Given the description of an element on the screen output the (x, y) to click on. 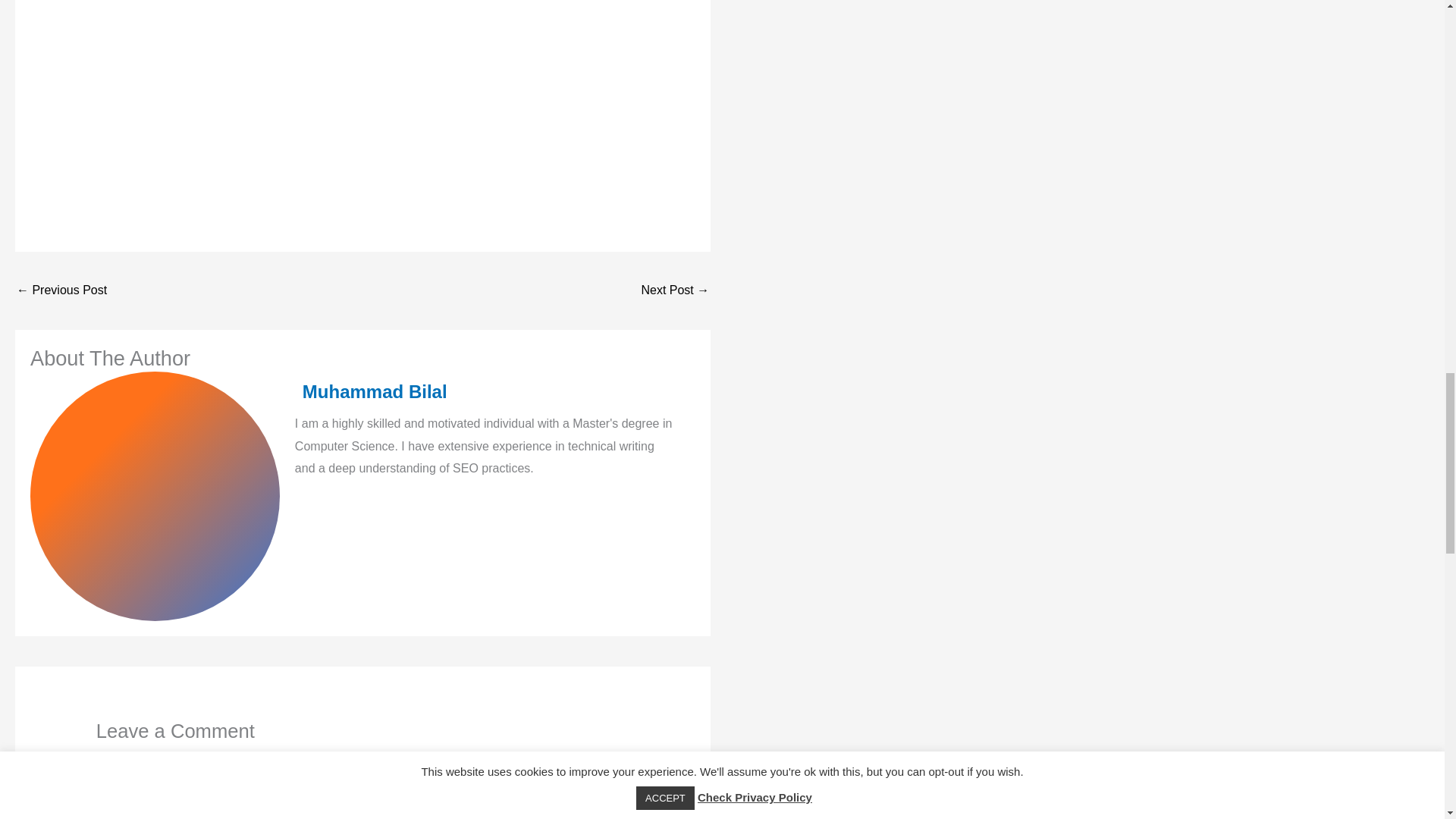
Advertisement (359, 116)
Smart chip mimics human brain functions (674, 291)
